Given the description of an element on the screen output the (x, y) to click on. 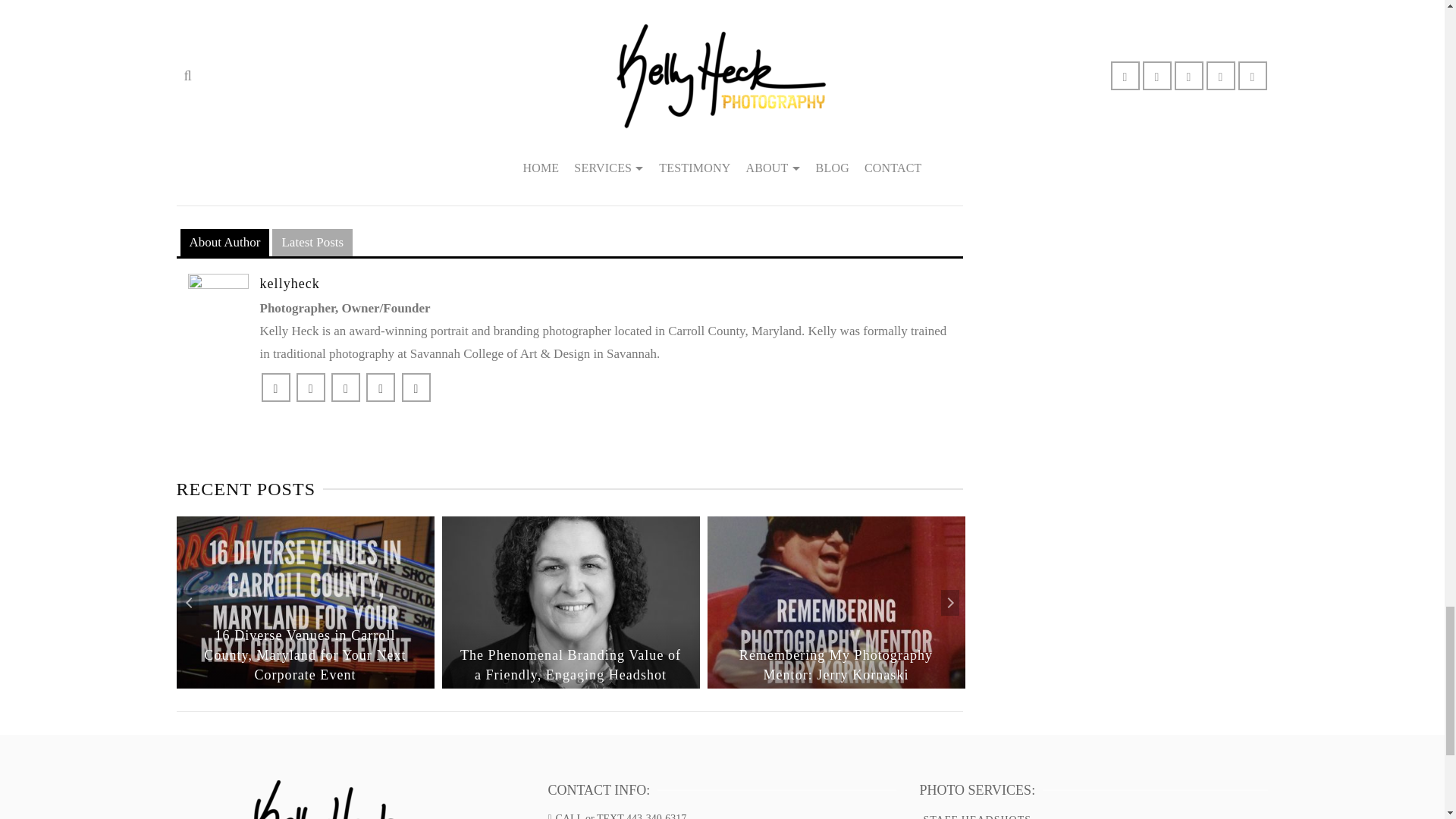
Follow kellyheck on Instagram (415, 387)
Follow kellyheck on Vimeo (345, 387)
Follow kellyheck on linkedin (380, 387)
Follow kellyheck on Facebook (274, 387)
Follow kellyheck on YouTube (310, 387)
Posts by kellyheck (288, 283)
